Given the description of an element on the screen output the (x, y) to click on. 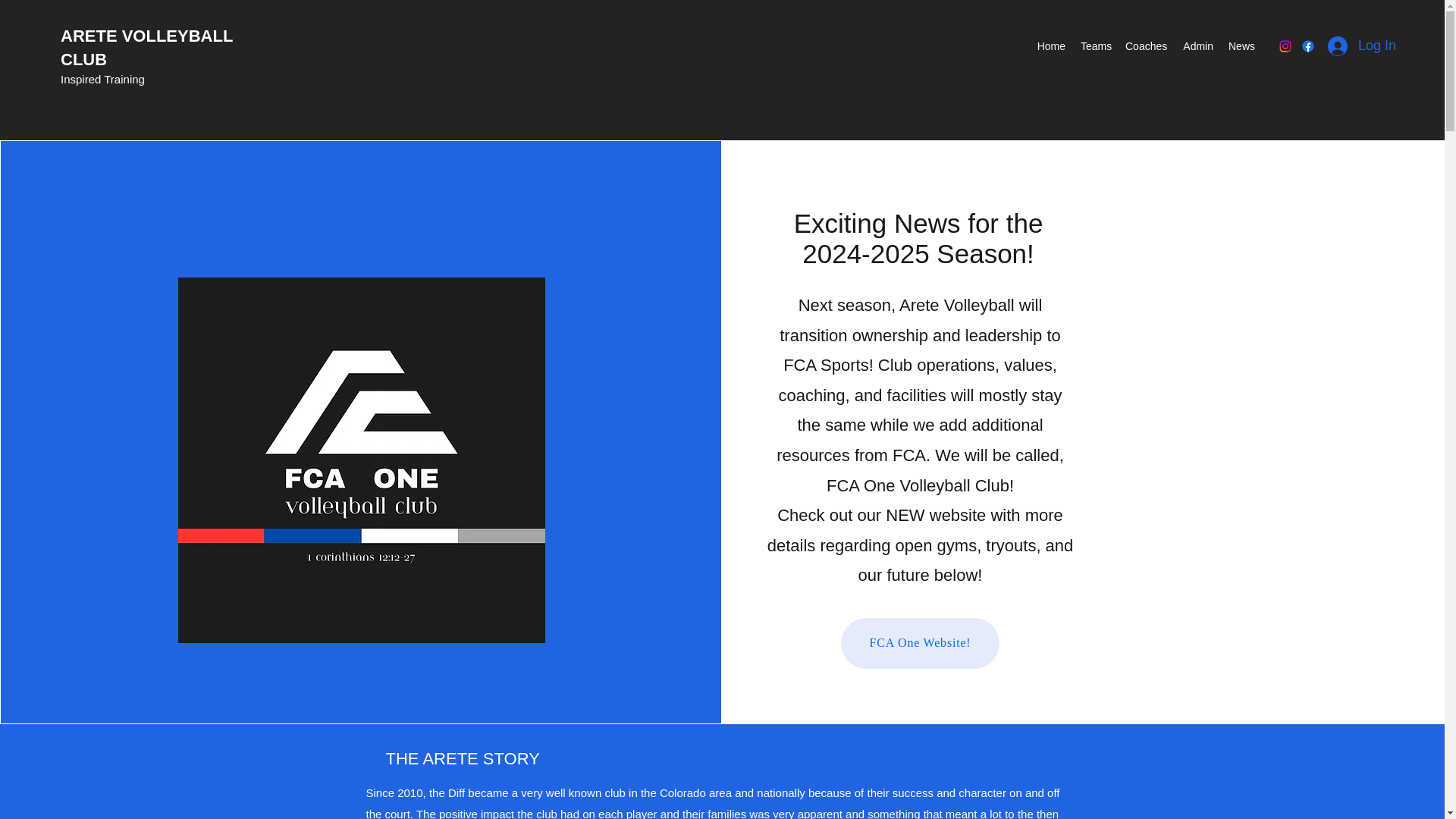
News (1241, 46)
Home (1051, 46)
FCA One Website! (919, 643)
ARETE VOLLEYBALL CLUB (146, 47)
Coaches (1145, 46)
Log In (1361, 46)
